Given the description of an element on the screen output the (x, y) to click on. 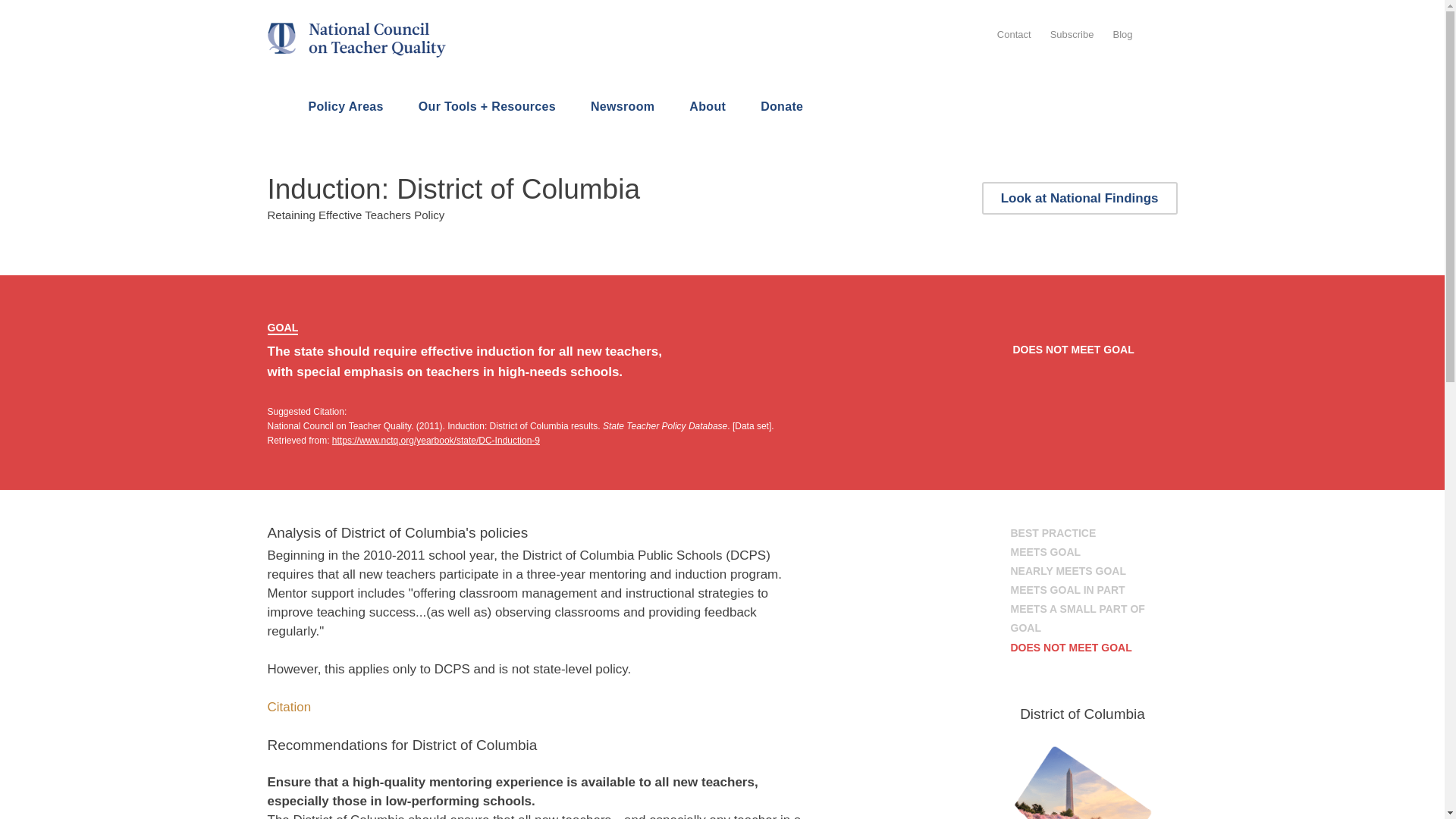
Subscribe (1071, 34)
Policy Areas (345, 108)
Contact (1013, 34)
Blog (1122, 34)
